Given the description of an element on the screen output the (x, y) to click on. 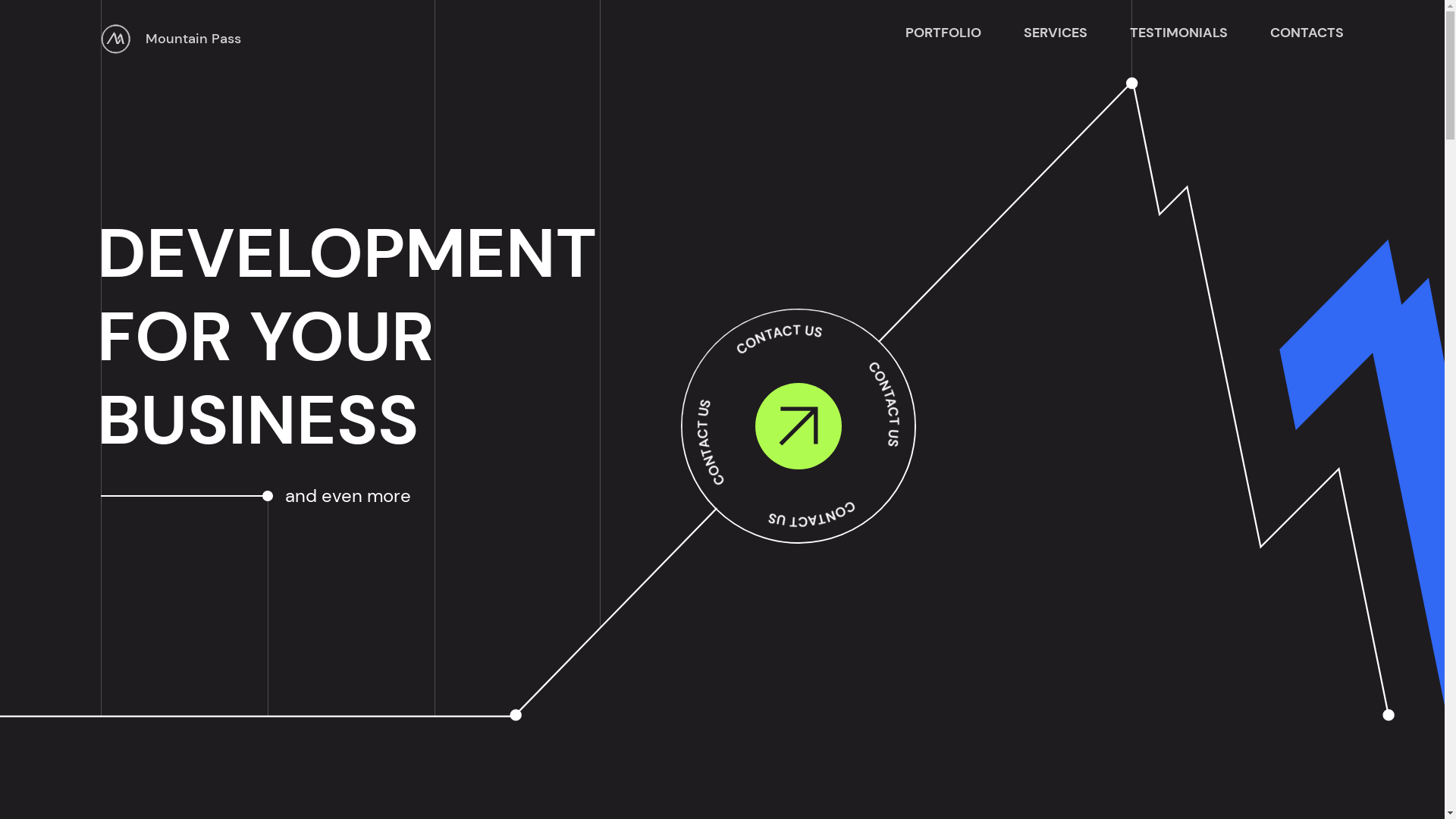
Send request Element type: text (792, 694)
